Given the description of an element on the screen output the (x, y) to click on. 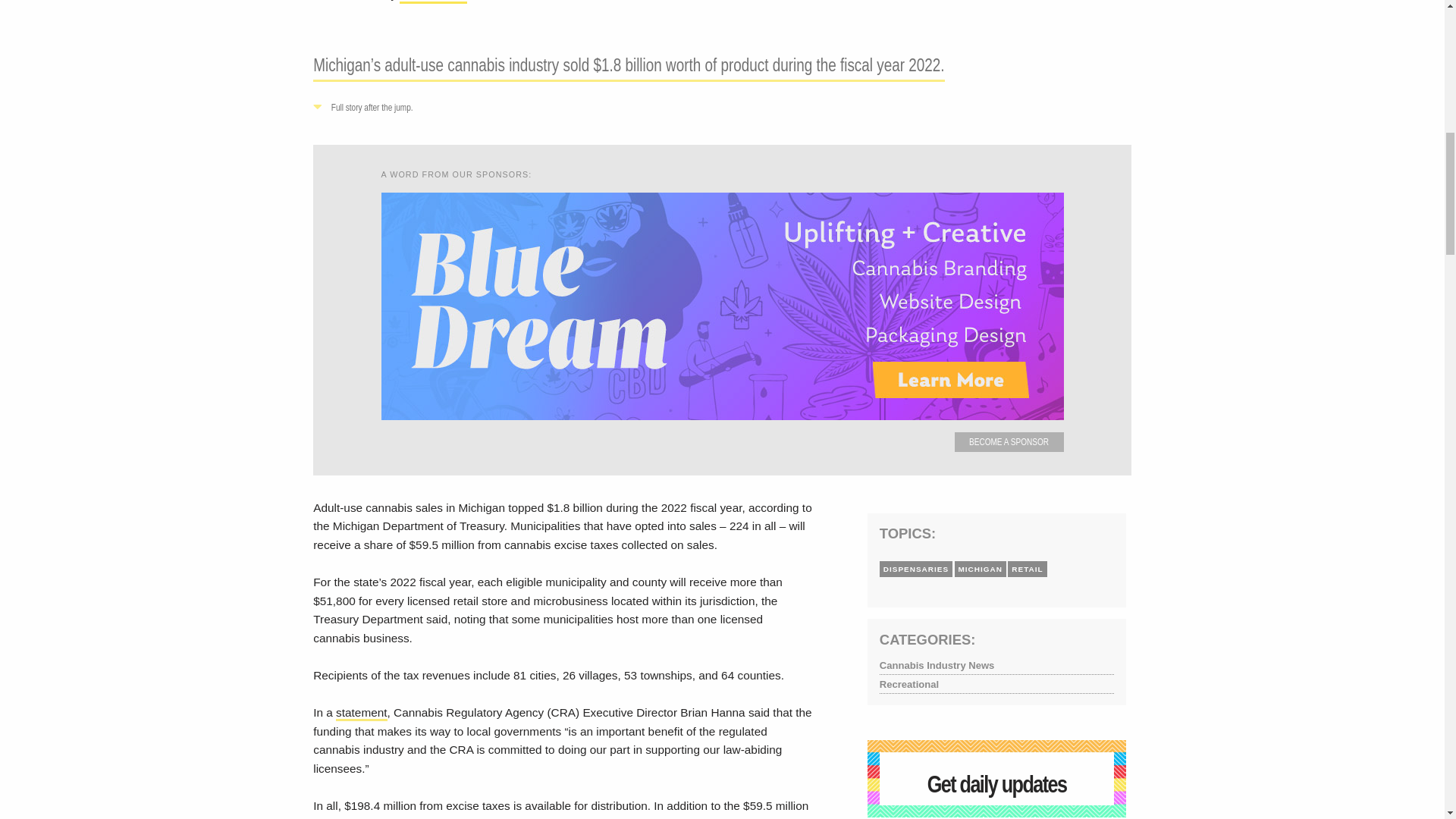
Recreational (997, 685)
RETAIL (1026, 569)
MICHIGAN (979, 569)
TG Branfalt (432, 2)
Cannabis Industry News (997, 666)
DISPENSARIES (916, 569)
BECOME A SPONSOR (1009, 442)
statement (361, 713)
Cannabis Industry News (997, 666)
Recreational (997, 685)
